Given the description of an element on the screen output the (x, y) to click on. 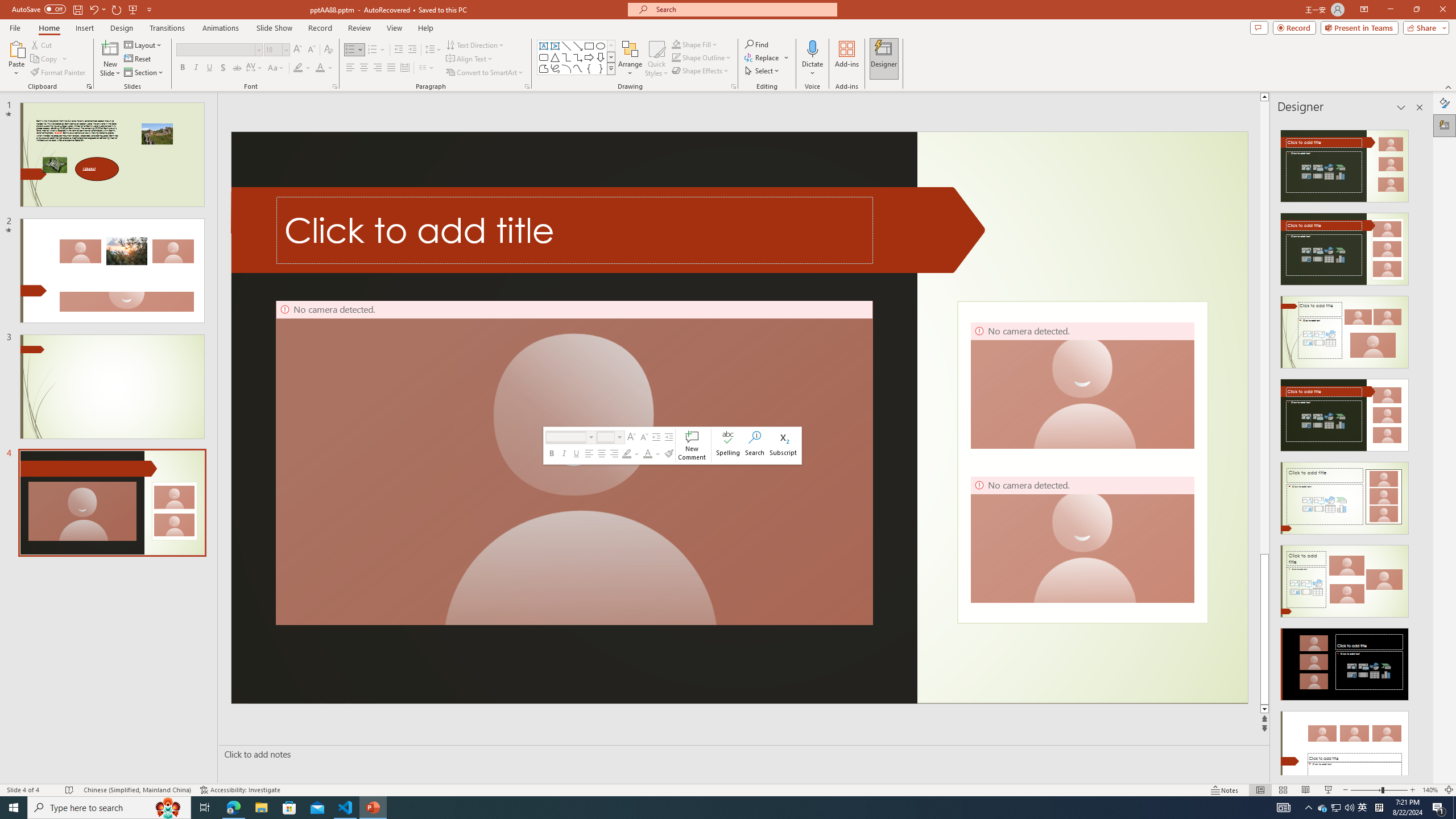
Rectangle: Rounded Corners (543, 57)
Page up (1264, 327)
Bold (182, 67)
System (6, 6)
Freeform: Scribble (554, 68)
Subscript (783, 445)
Share (1423, 27)
Paste (16, 48)
Font Color (324, 67)
Find... (756, 44)
Vertical Text Box (554, 45)
Spelling... (727, 445)
From Beginning (133, 9)
